Given the description of an element on the screen output the (x, y) to click on. 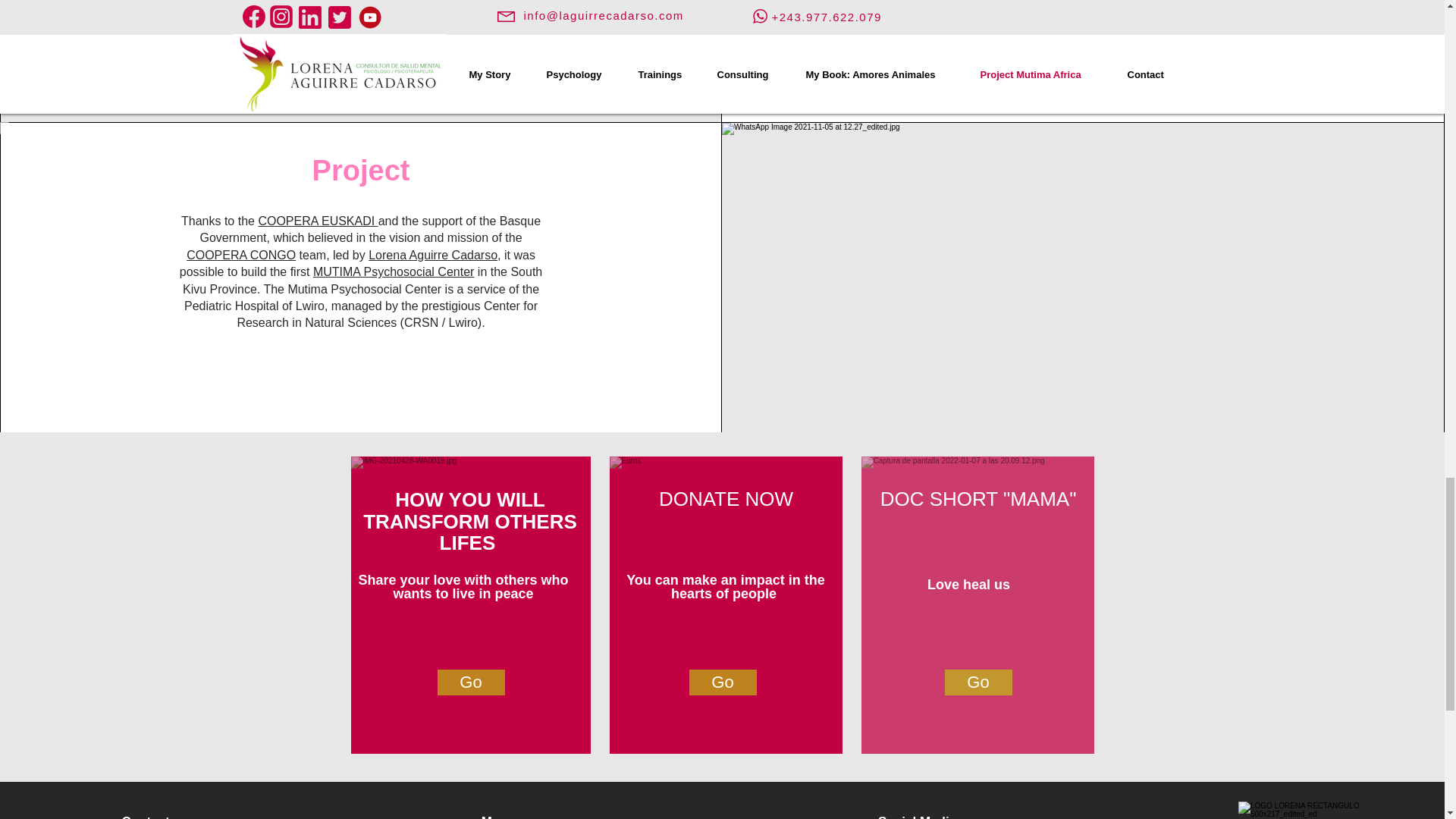
Go (469, 682)
COOPERA CONGO (240, 254)
Go (721, 682)
Lorena Aguirre Cadarso (432, 254)
COOPERA EUSKADI (317, 220)
MUTIMA Psychosocial Center (393, 271)
